Given the description of an element on the screen output the (x, y) to click on. 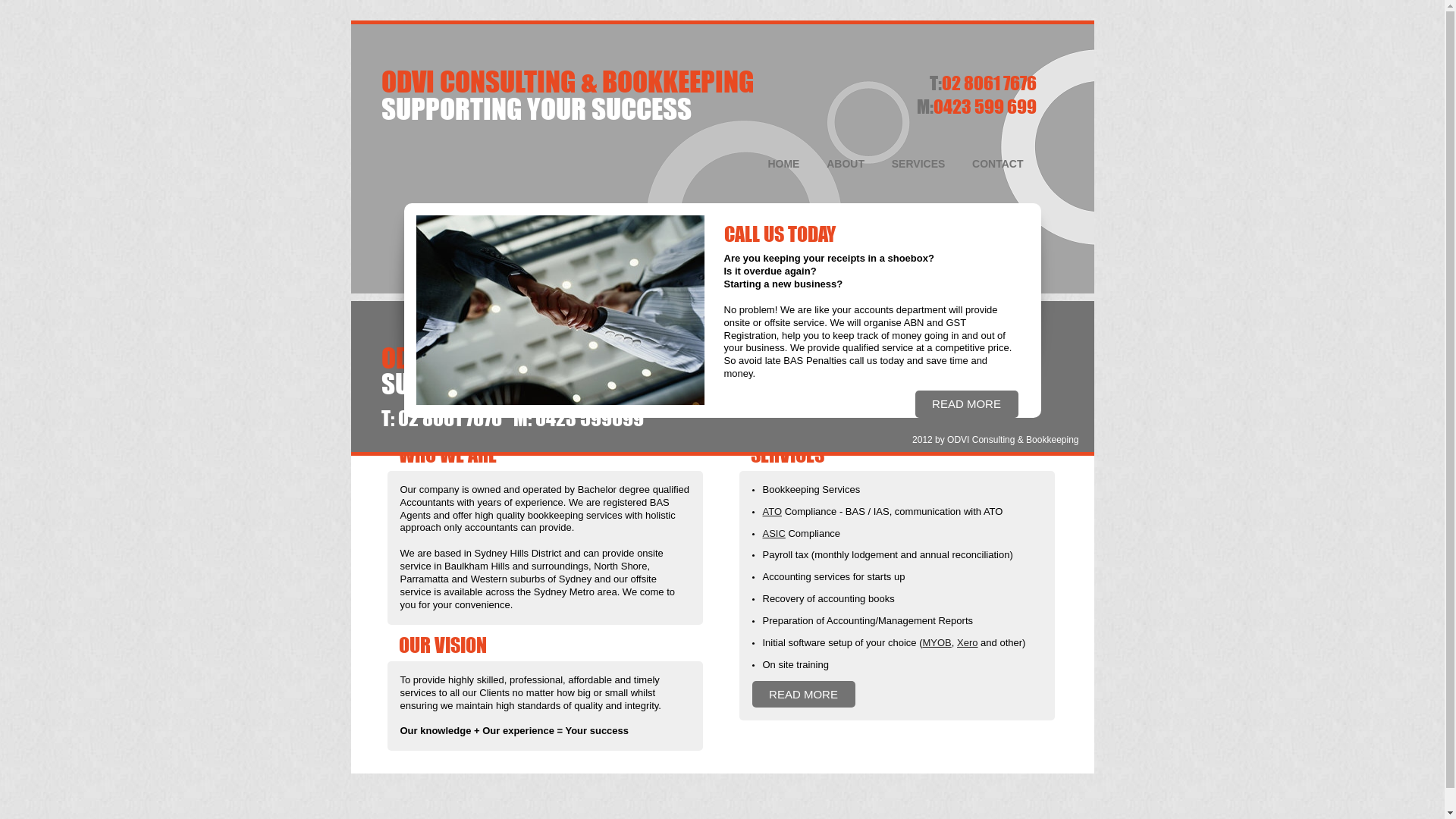
READ MORE Element type: text (802, 695)
ABOUT Element type: text (845, 163)
ASIC Element type: text (773, 533)
HOME Element type: text (783, 325)
MYOB Element type: text (936, 642)
SERVICES Element type: text (918, 163)
HOME Element type: text (783, 163)
CONTACT Element type: text (997, 325)
ATO Element type: text (772, 511)
Xero Element type: text (967, 642)
ABOUT Element type: text (845, 325)
CONTACT Element type: text (997, 163)
SERVICES Element type: text (918, 325)
READ MORE Element type: text (966, 405)
